Given the description of an element on the screen output the (x, y) to click on. 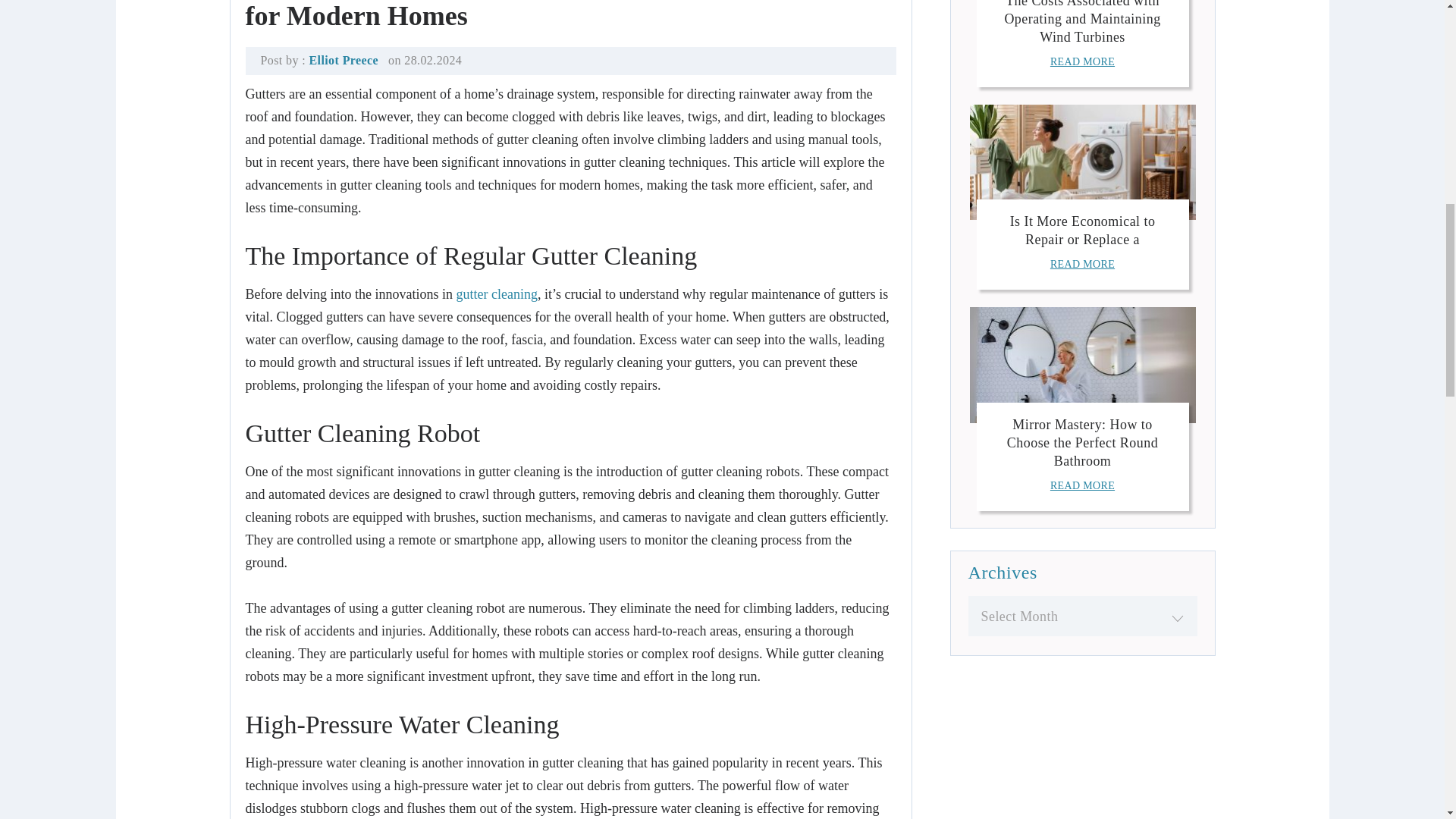
READ MORE (1082, 485)
READ MORE (1082, 61)
READ MORE (1082, 264)
Mirror Mastery: How to Choose the Perfect Round Bathroom (1082, 442)
Is It More Economical to Repair or Replace a (1083, 230)
gutter cleaning (496, 294)
